Given the description of an element on the screen output the (x, y) to click on. 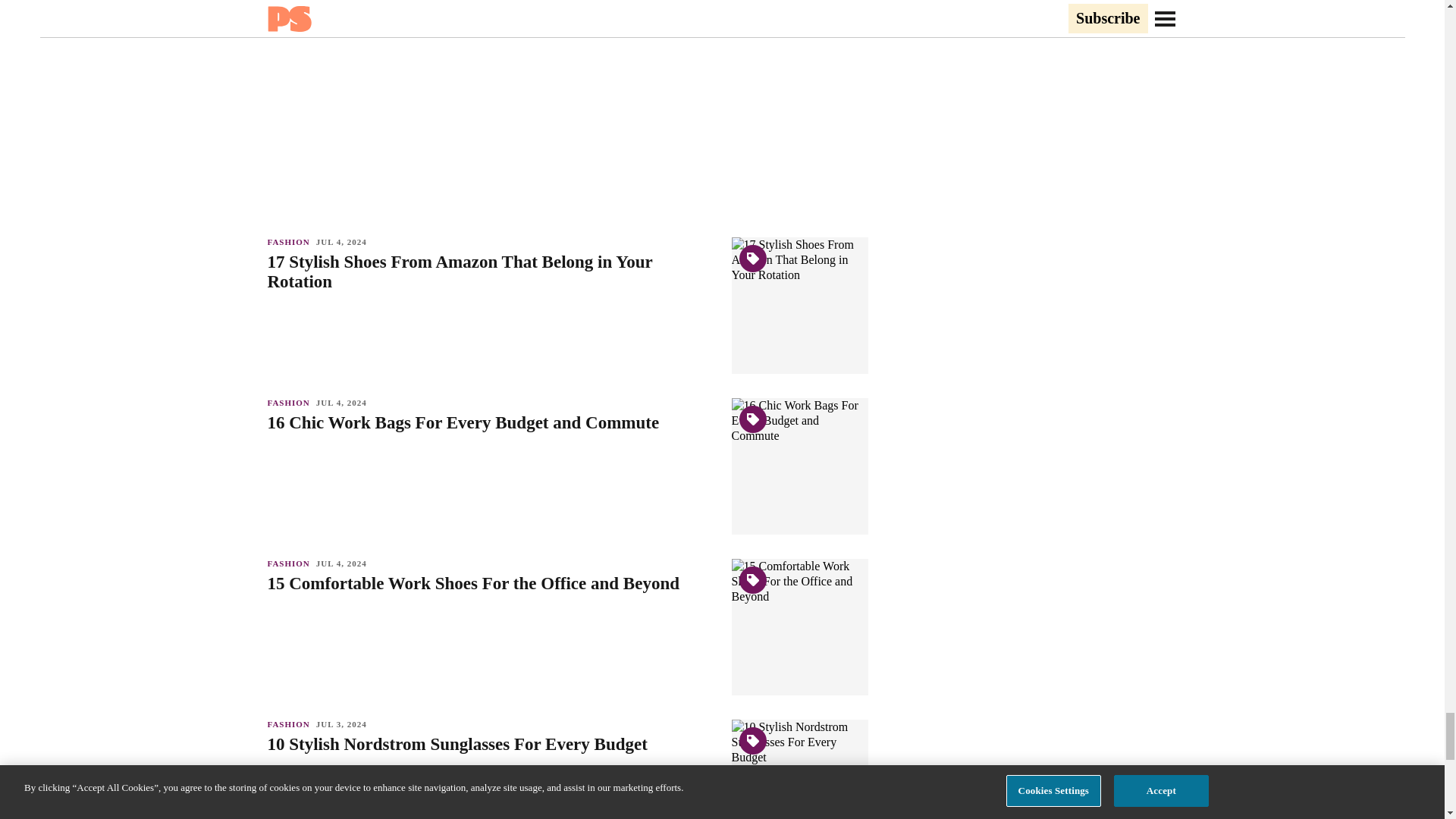
16 Chic Work Bags For Every Budget and Commute (491, 423)
17 Stylish Shoes From Amazon That Belong in Your Rotation (491, 271)
FASHION (290, 241)
FASHION (290, 402)
